Given the description of an element on the screen output the (x, y) to click on. 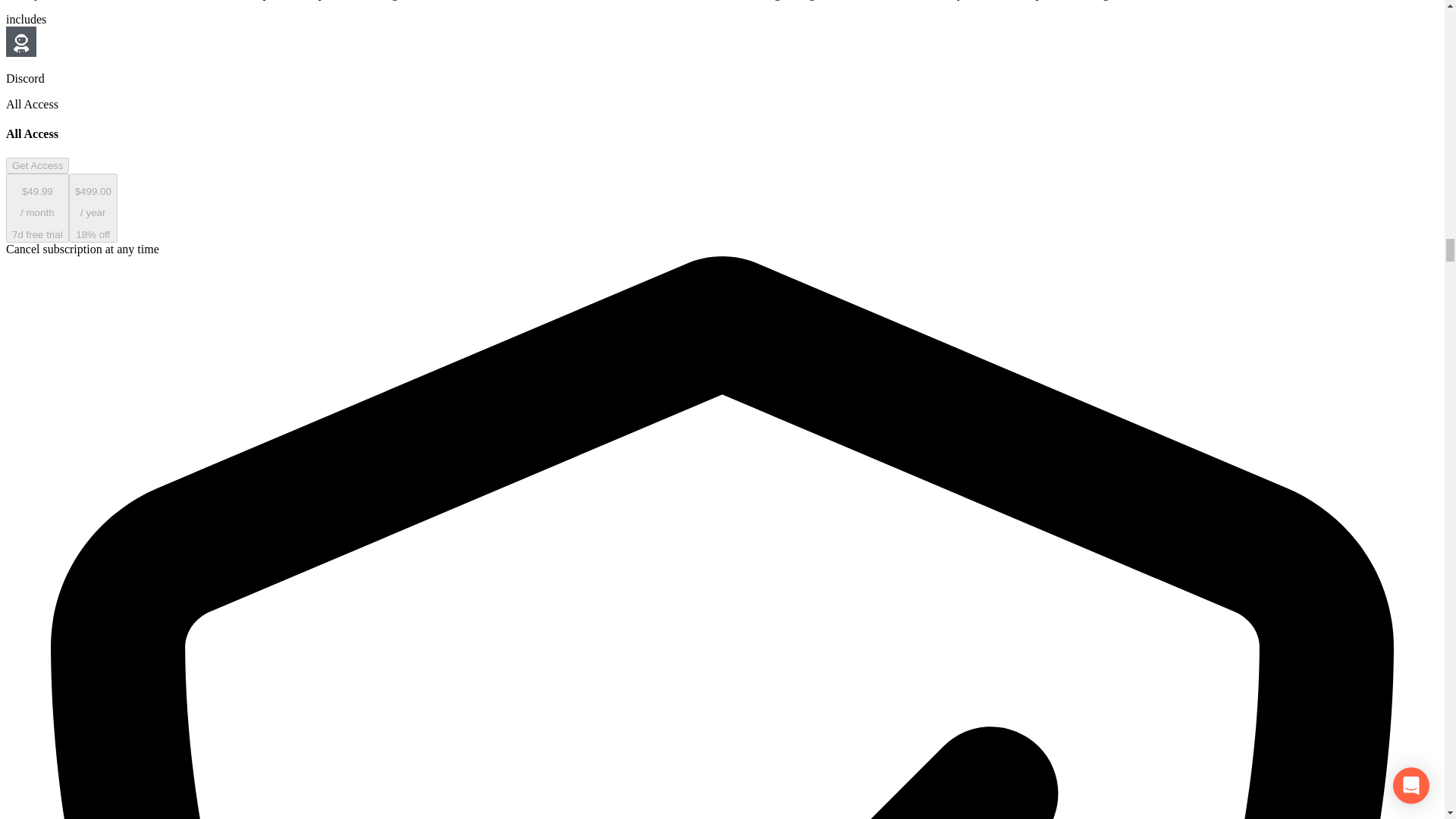
Get Access (36, 165)
